Given the description of an element on the screen output the (x, y) to click on. 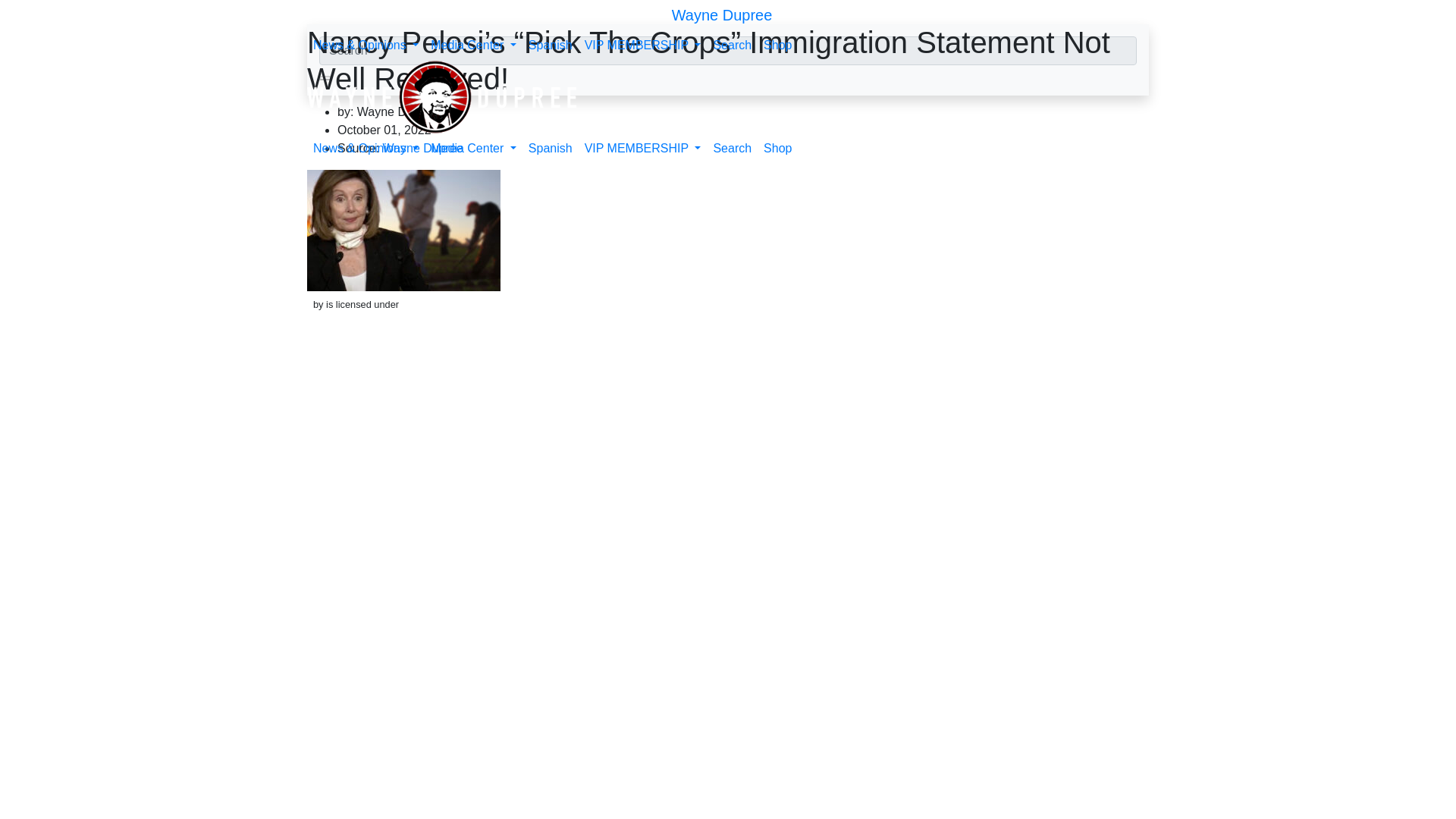
Shop (777, 45)
Media Center (473, 45)
Spanish (550, 45)
Search (731, 45)
Media Center (473, 148)
VIP MEMBERSHIP (642, 148)
VIP MEMBERSHIP (642, 45)
Wayne Dupree (722, 15)
Spanish (550, 148)
